Given the description of an element on the screen output the (x, y) to click on. 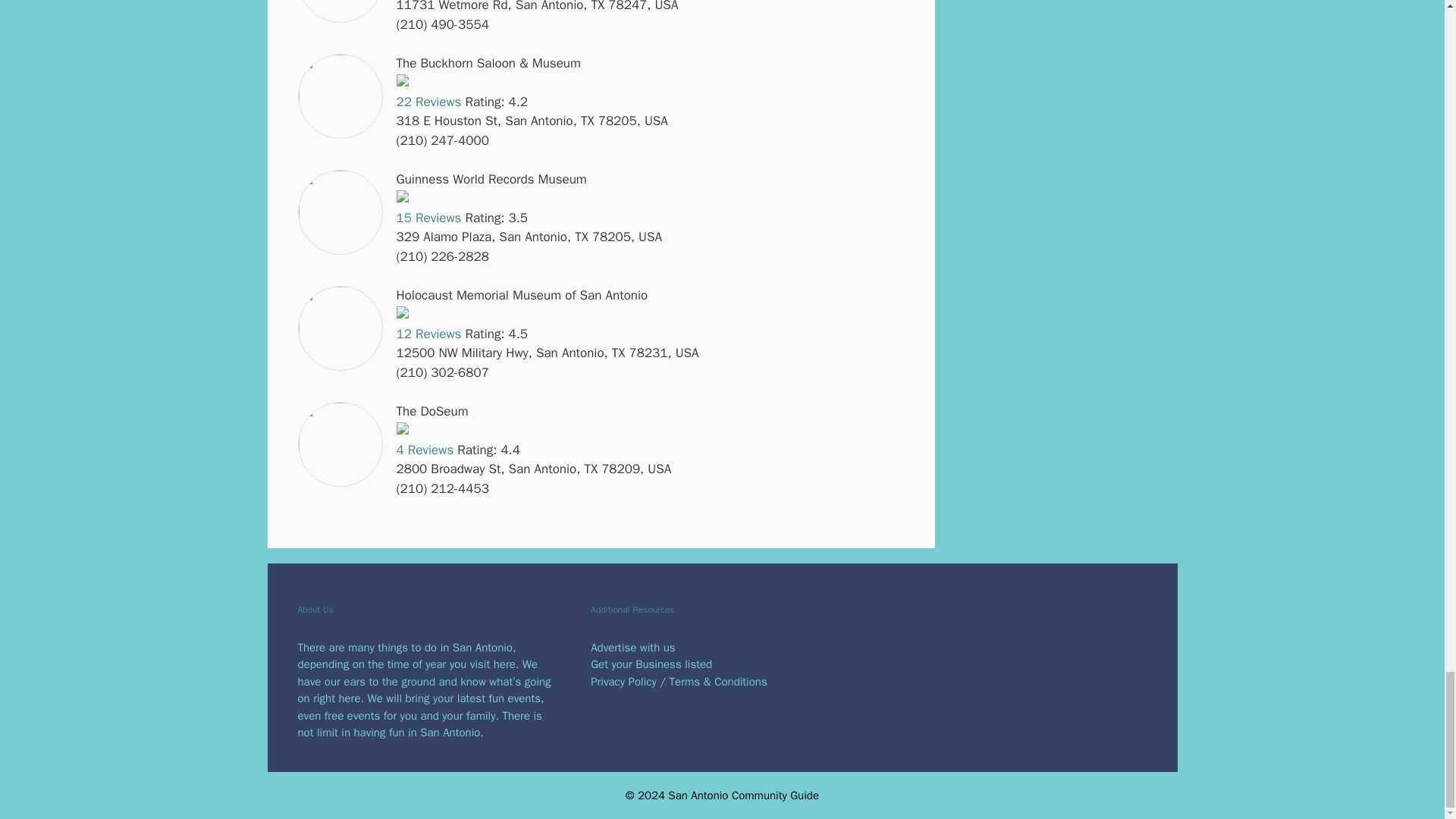
22 Reviews (428, 101)
12 Reviews (428, 333)
4 Reviews (424, 449)
15 Reviews (428, 217)
